Given the description of an element on the screen output the (x, y) to click on. 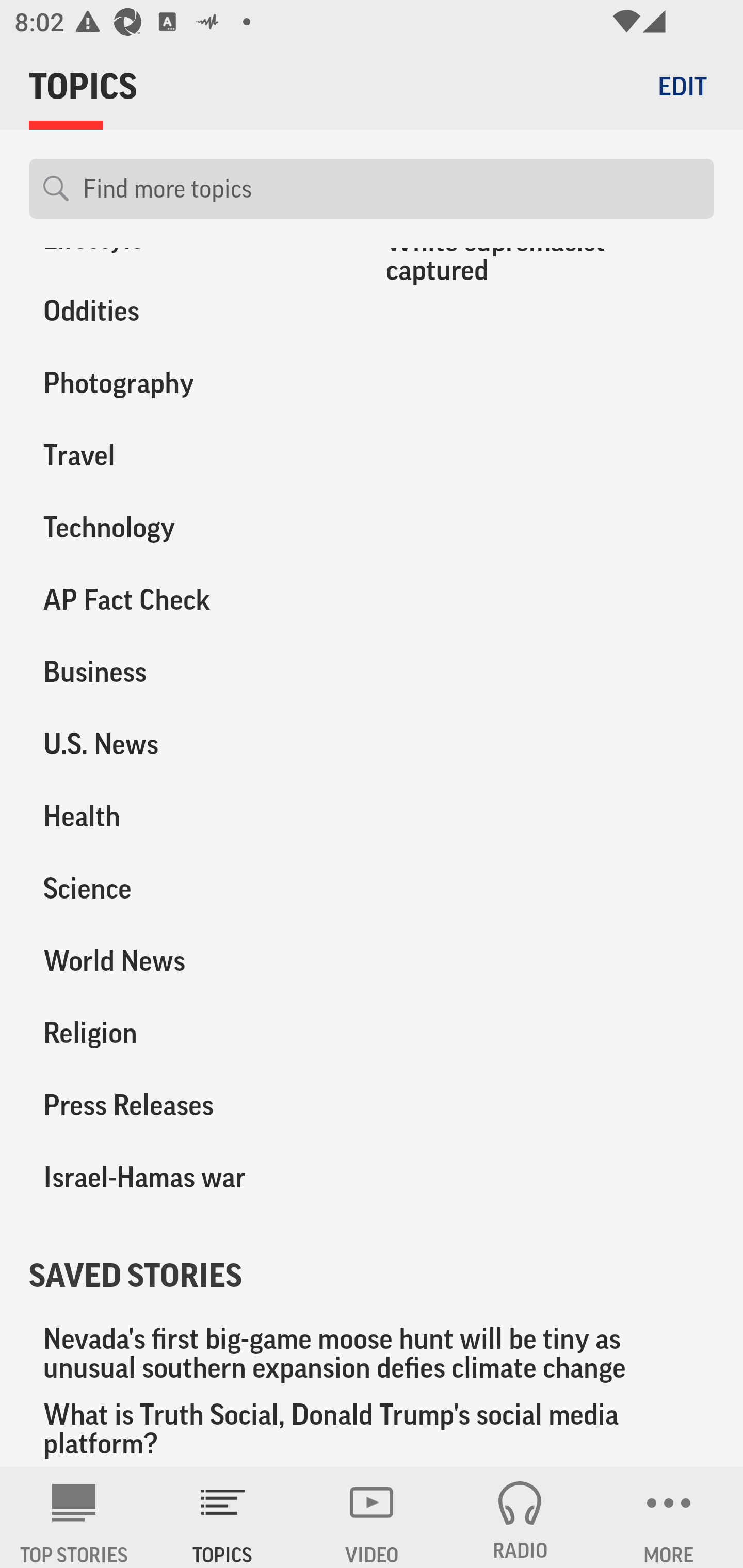
EDIT (682, 86)
Find more topics (391, 188)
Oddities (185, 310)
Photography (185, 382)
Travel (185, 454)
Technology (185, 527)
AP Fact Check (185, 600)
Business (185, 672)
U.S. News (185, 744)
Health (185, 816)
Science (185, 888)
World News (185, 961)
Religion (185, 1033)
Press Releases (185, 1105)
Israel-Hamas war (185, 1177)
AP News TOP STORIES (74, 1517)
TOPICS (222, 1517)
VIDEO (371, 1517)
RADIO (519, 1517)
MORE (668, 1517)
